Given the description of an element on the screen output the (x, y) to click on. 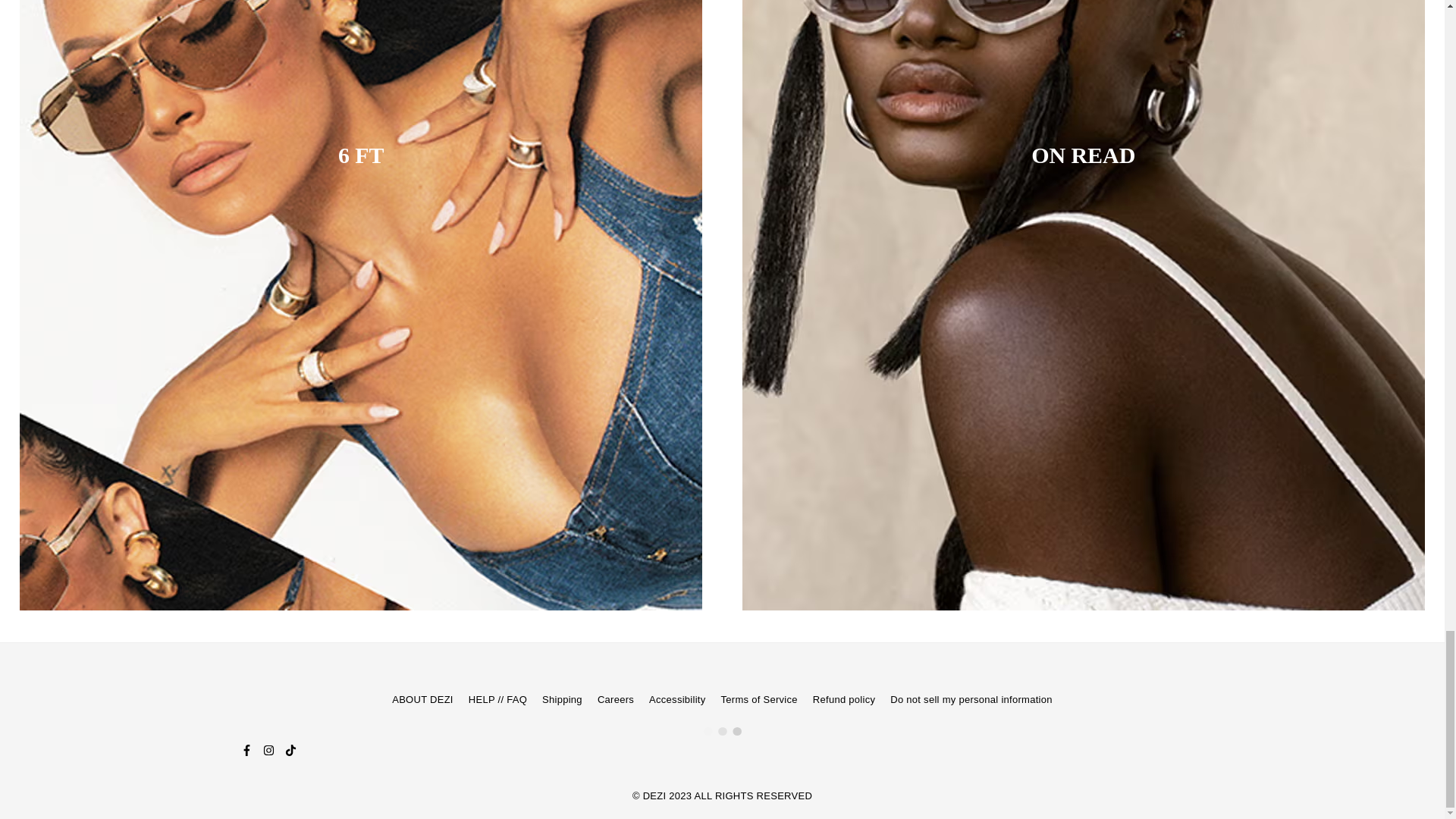
Shipping (561, 699)
DEZI on TikTok (291, 749)
Careers (614, 699)
ABOUT DEZI (421, 699)
DEZI on Instagram (267, 749)
Accessibility (676, 699)
DEZI on Facebook (246, 749)
